Given the description of an element on the screen output the (x, y) to click on. 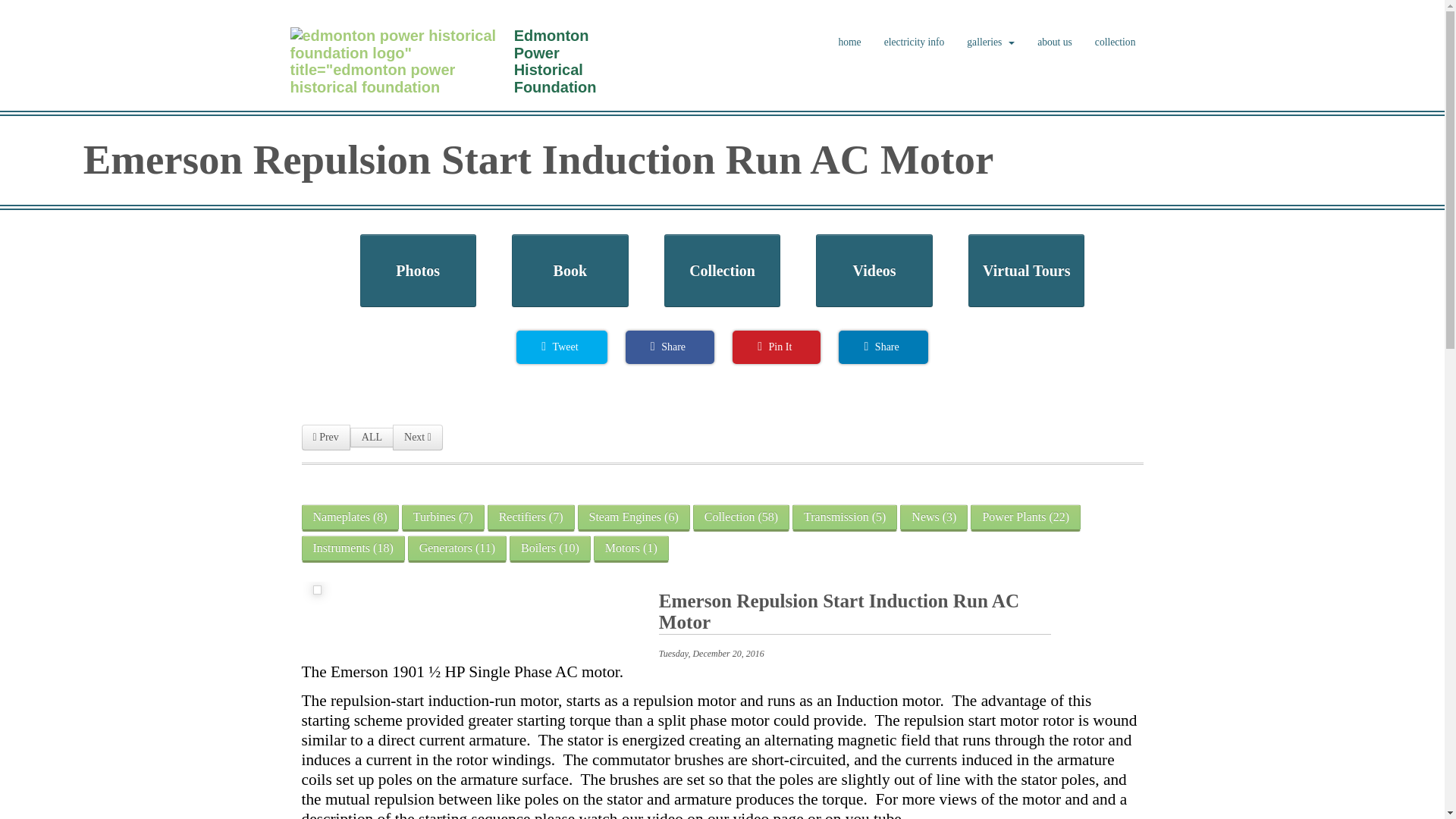
electricity info (914, 42)
share on Facebook (670, 346)
Book (569, 270)
pin to Pinterest (776, 346)
share on LinkedIn (882, 346)
Pin It (776, 346)
Photos (417, 270)
Prev (325, 437)
Next (417, 437)
Videos (873, 270)
